Given the description of an element on the screen output the (x, y) to click on. 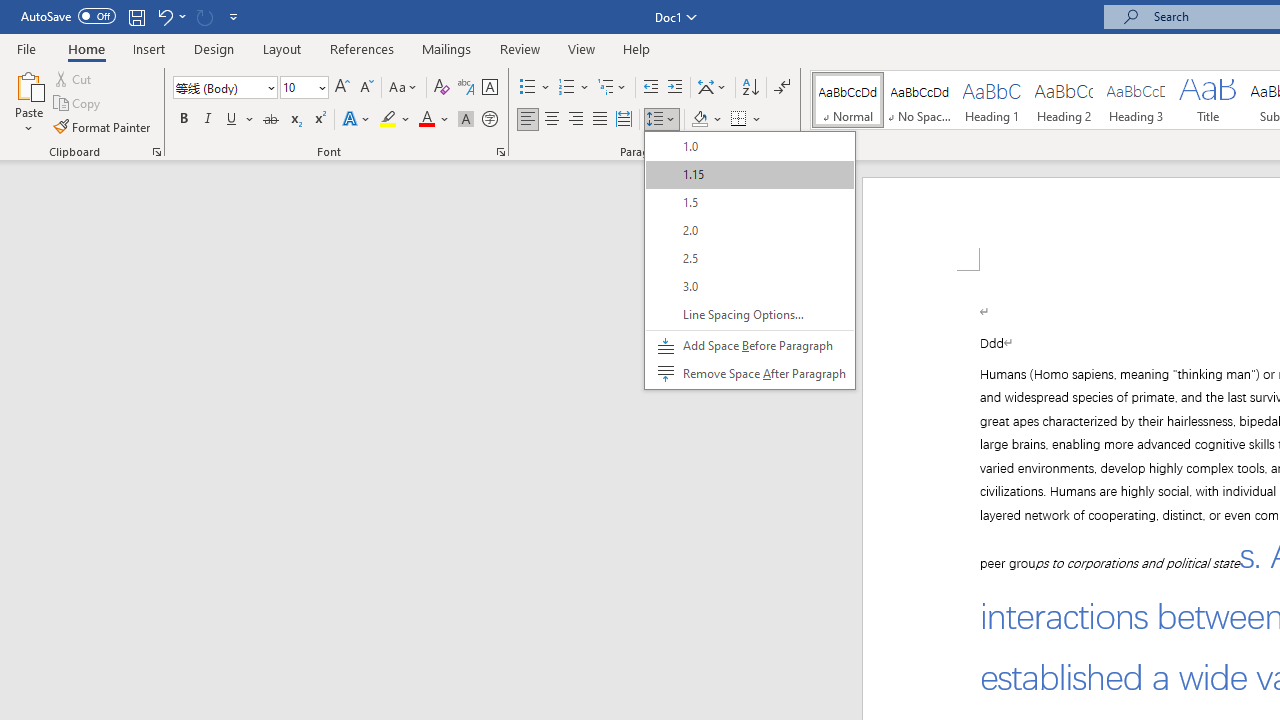
Shrink Font (365, 87)
Align Left (527, 119)
Increase Indent (675, 87)
Font Color Red (426, 119)
Phonetic Guide... (465, 87)
Text Highlight Color (395, 119)
Strikethrough (270, 119)
